Given the description of an element on the screen output the (x, y) to click on. 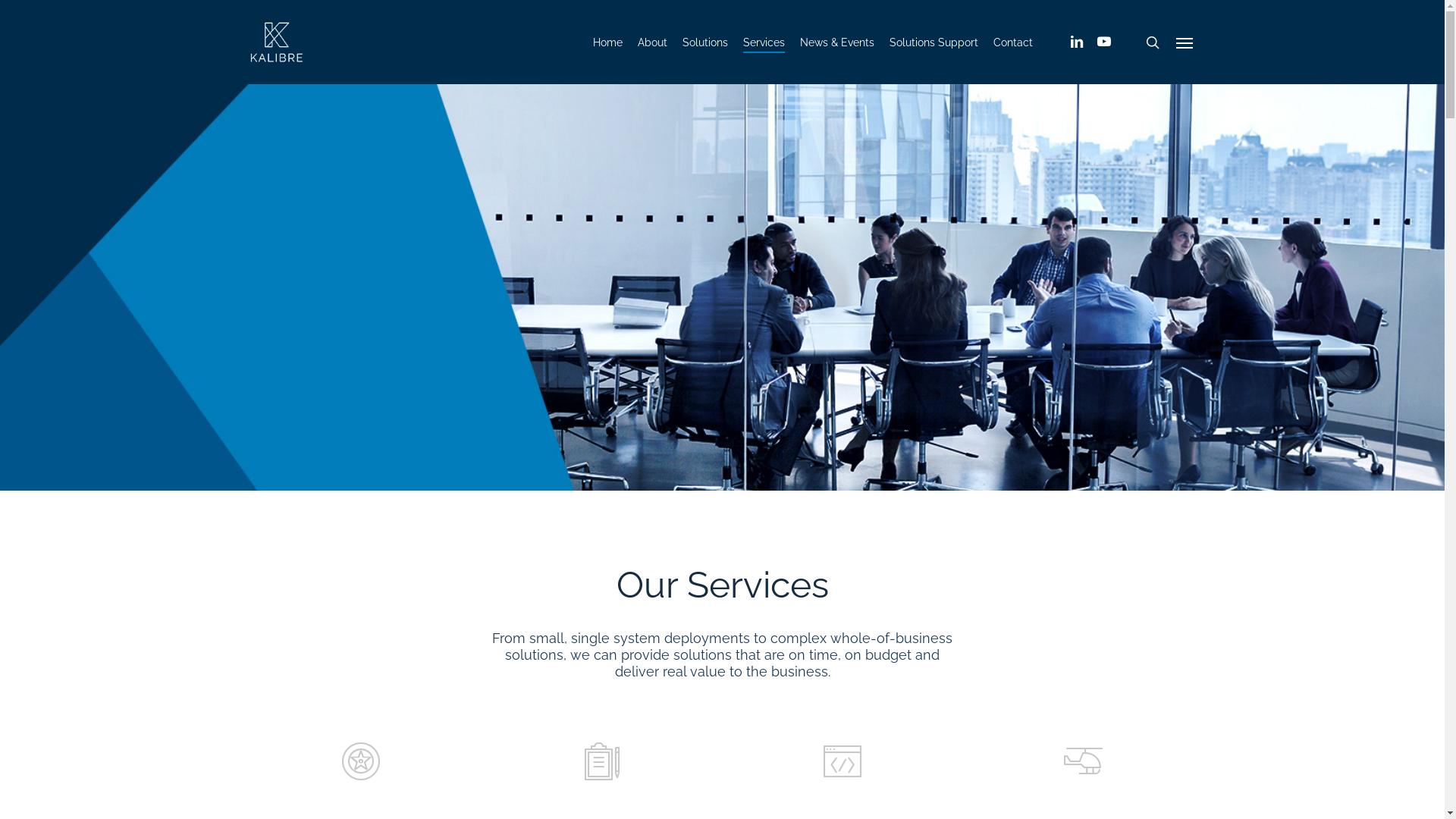
Home Element type: text (607, 41)
Solutions Element type: text (705, 41)
Solutions Support Element type: text (933, 41)
Linkedin Element type: text (1076, 41)
search Element type: text (1152, 42)
News & Events Element type: text (837, 41)
Services Element type: text (763, 41)
About Element type: text (652, 41)
Menu Element type: text (1185, 42)
Contact Element type: text (1012, 41)
Youtube Element type: text (1103, 41)
